Given the description of an element on the screen output the (x, y) to click on. 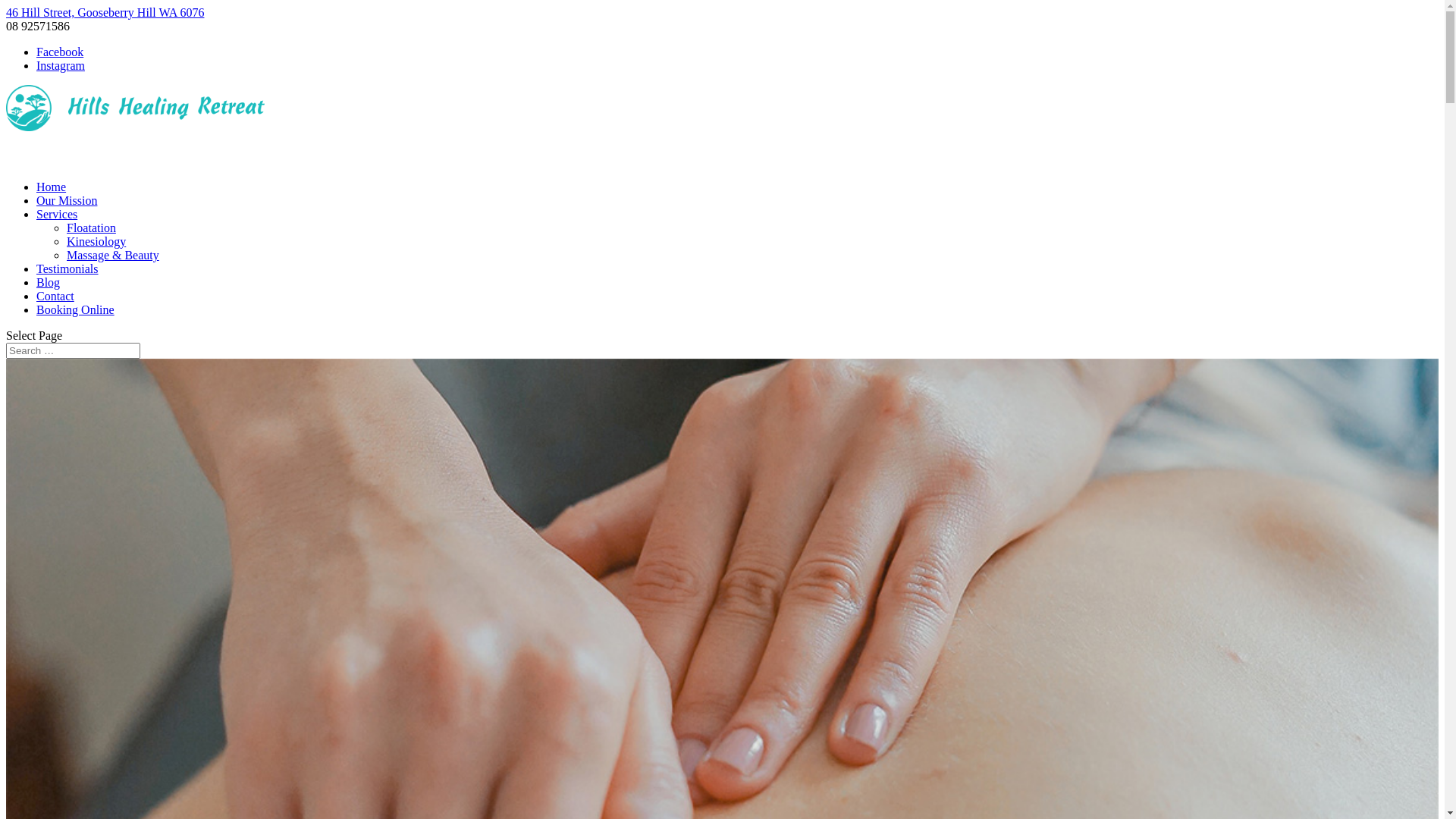
Kinesiology Element type: text (95, 241)
Floatation Element type: text (91, 227)
Search for: Element type: hover (73, 350)
Instagram Element type: text (60, 65)
Blog Element type: text (47, 290)
46 Hill Street, Gooseberry Hill WA 6076 Element type: text (104, 12)
Massage & Beauty Element type: text (112, 254)
Facebook Element type: text (59, 51)
Booking Online Element type: text (75, 317)
Contact Element type: text (55, 303)
Services Element type: text (56, 221)
Our Mission Element type: text (66, 208)
Home Element type: text (50, 194)
Testimonials Element type: text (67, 276)
